Given the description of an element on the screen output the (x, y) to click on. 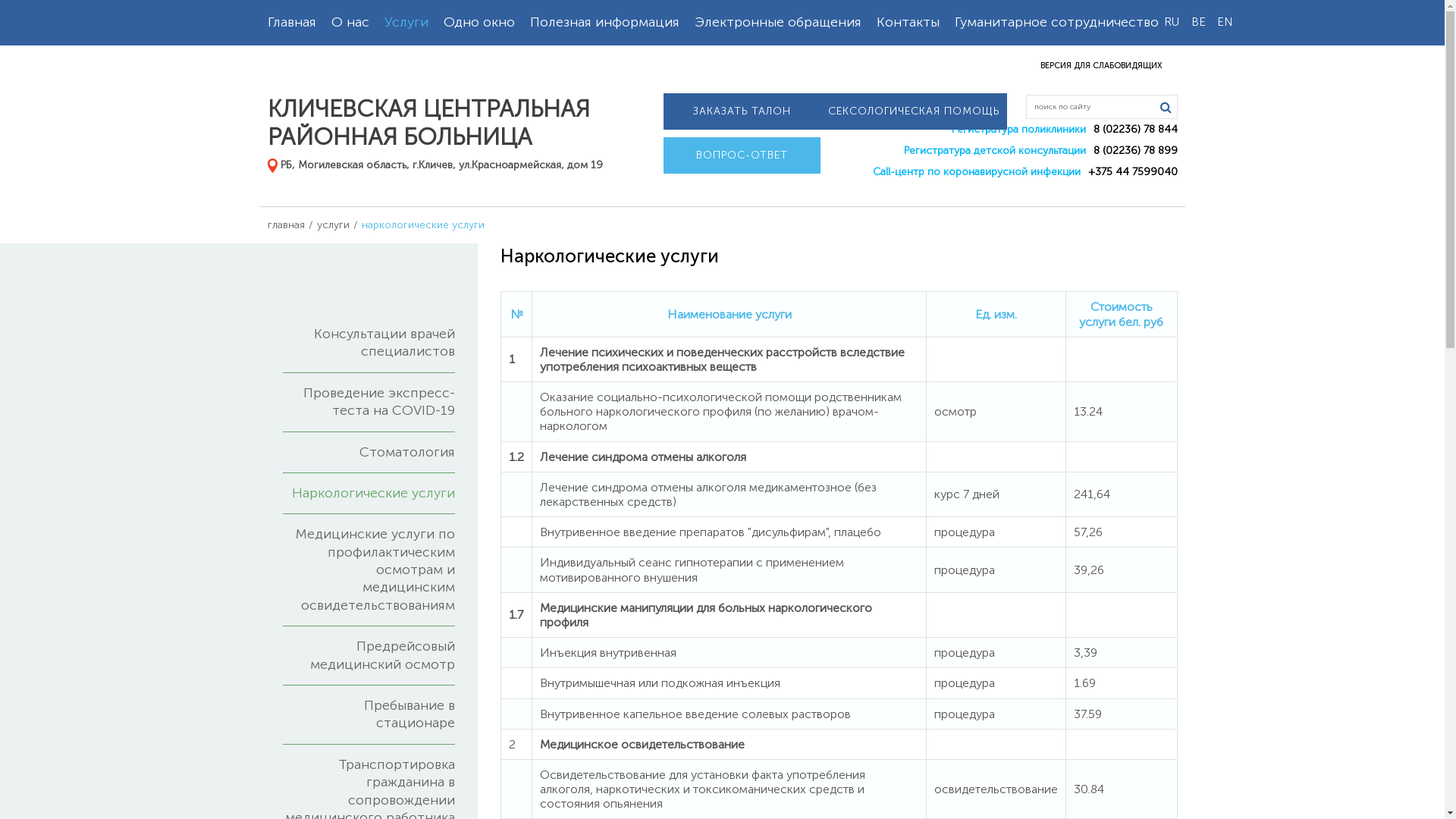
+375 44 7599040 Element type: text (1131, 171)
EN Element type: text (1224, 22)
RU Element type: text (1171, 22)
BE Element type: text (1197, 22)
8 (02236) 78 844 Element type: text (1135, 128)
8 (02236) 78 899 Element type: text (1135, 150)
